Given the description of an element on the screen output the (x, y) to click on. 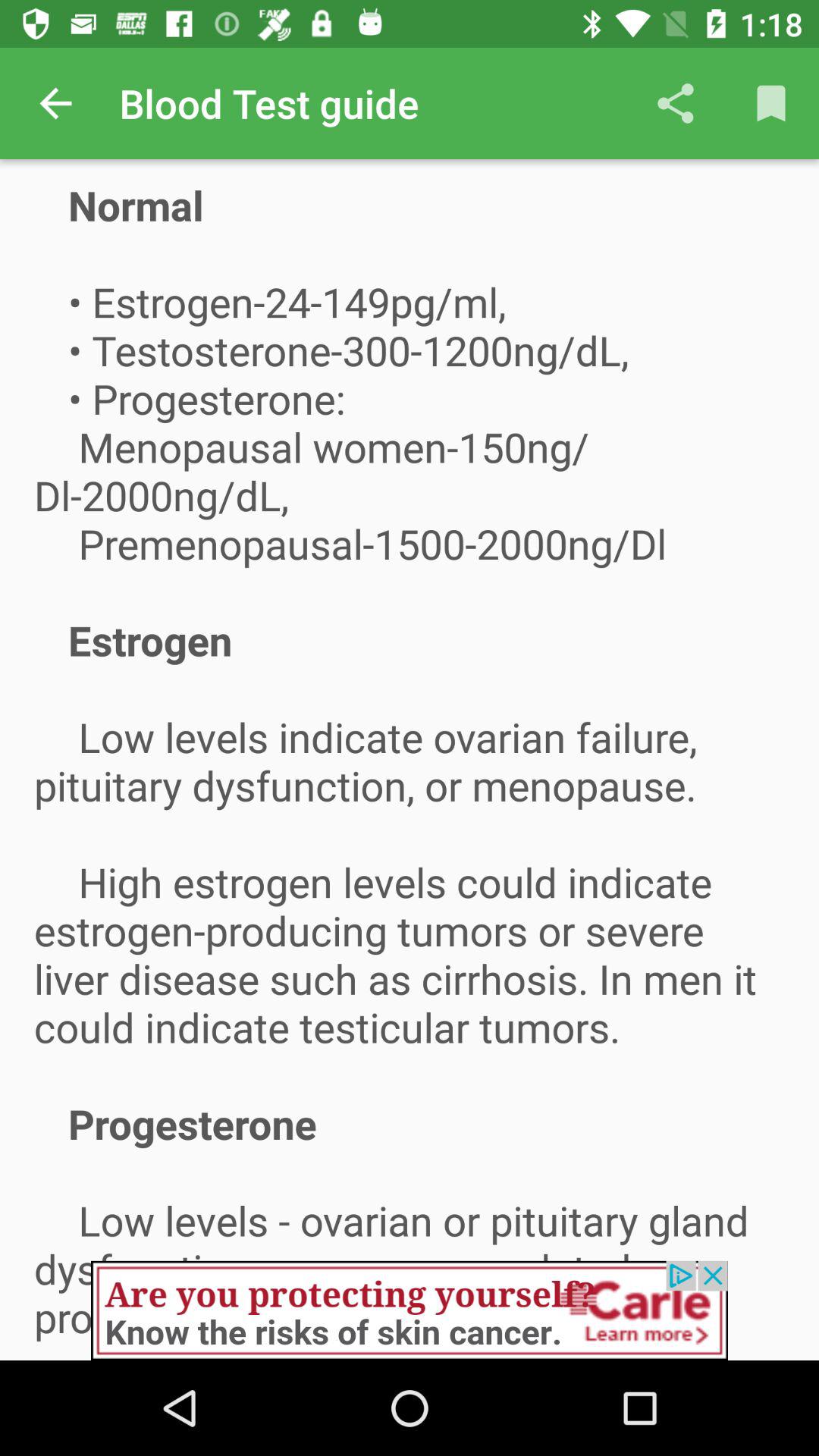
advertisement (409, 1310)
